Given the description of an element on the screen output the (x, y) to click on. 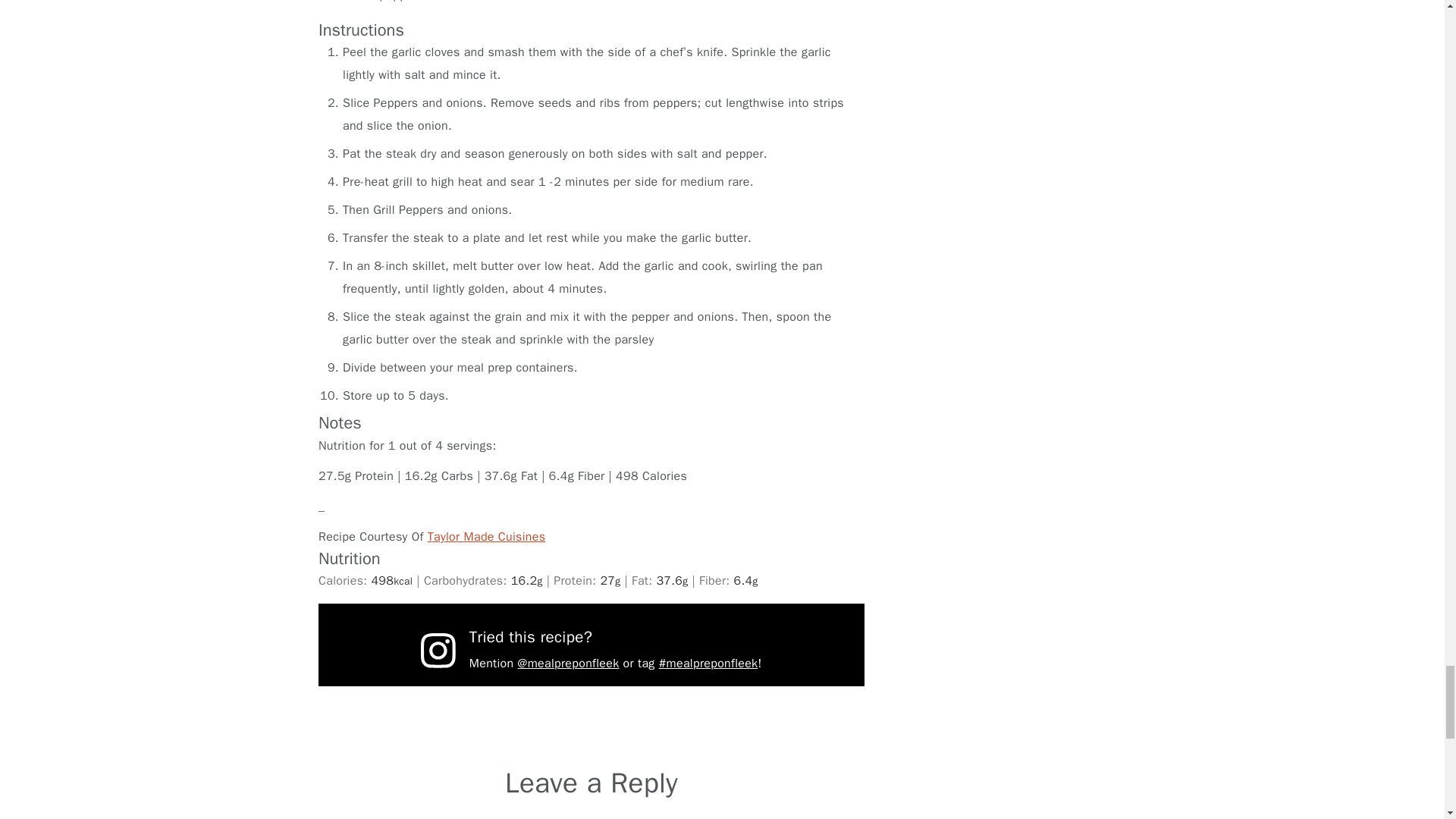
Taylor Made Cuisines (487, 536)
